Given the description of an element on the screen output the (x, y) to click on. 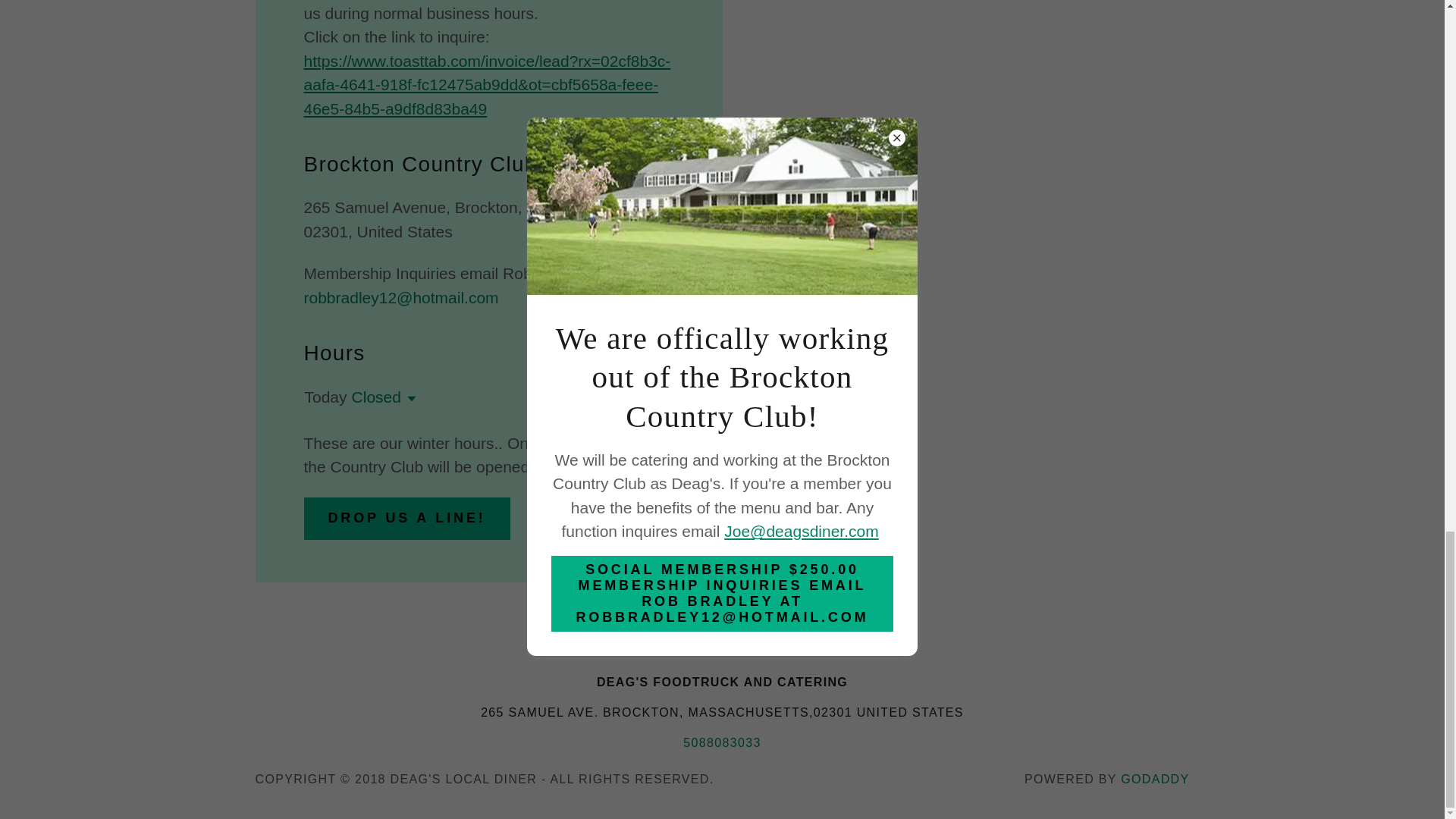
Brockton Country Club (627, 627)
Food Truck and Catering (808, 627)
GODADDY (1155, 779)
DROP US A LINE! (405, 518)
5088083033 (721, 742)
